Given the description of an element on the screen output the (x, y) to click on. 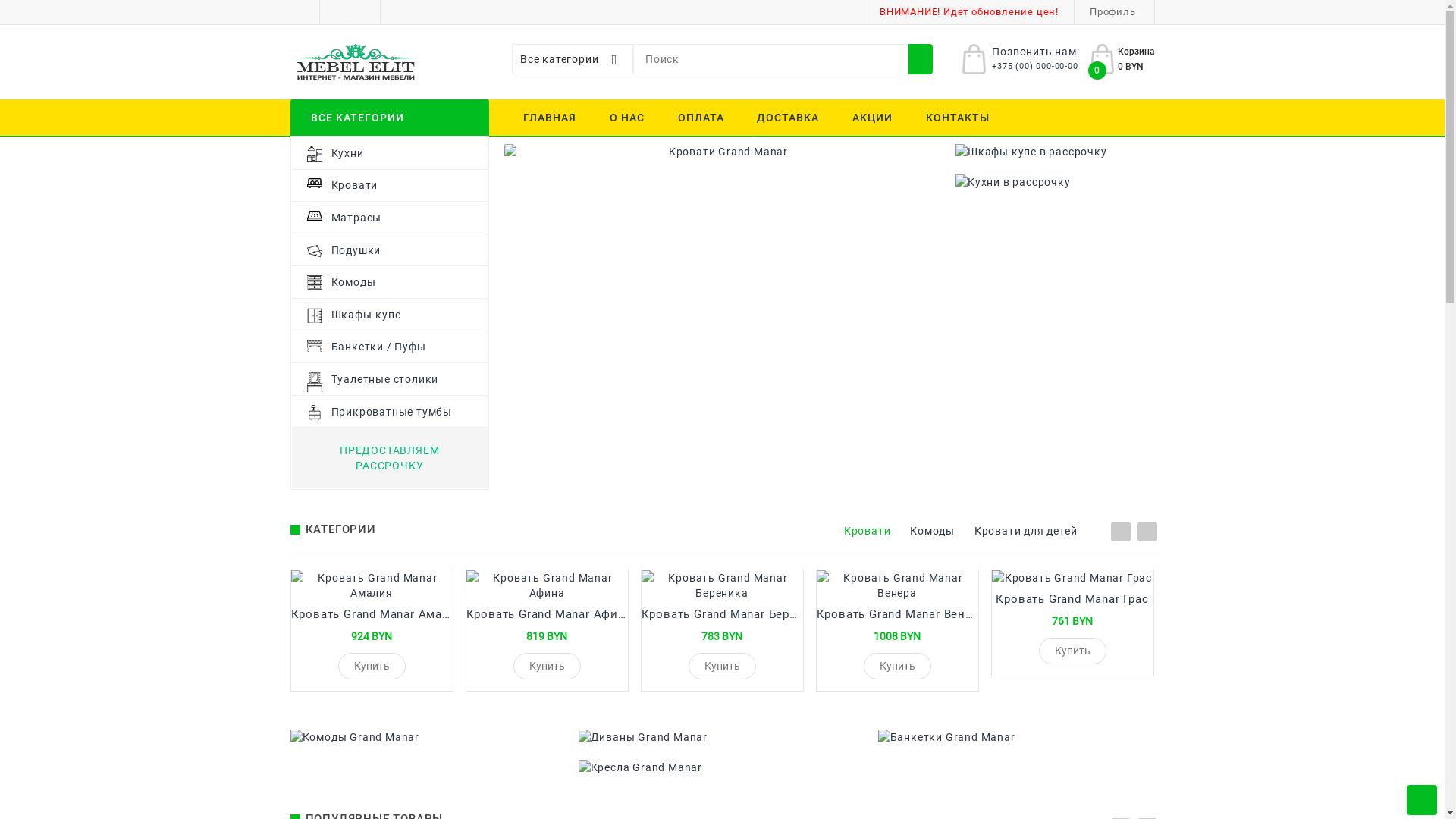
Scroll to Top Element type: hover (1421, 799)
